Given the description of an element on the screen output the (x, y) to click on. 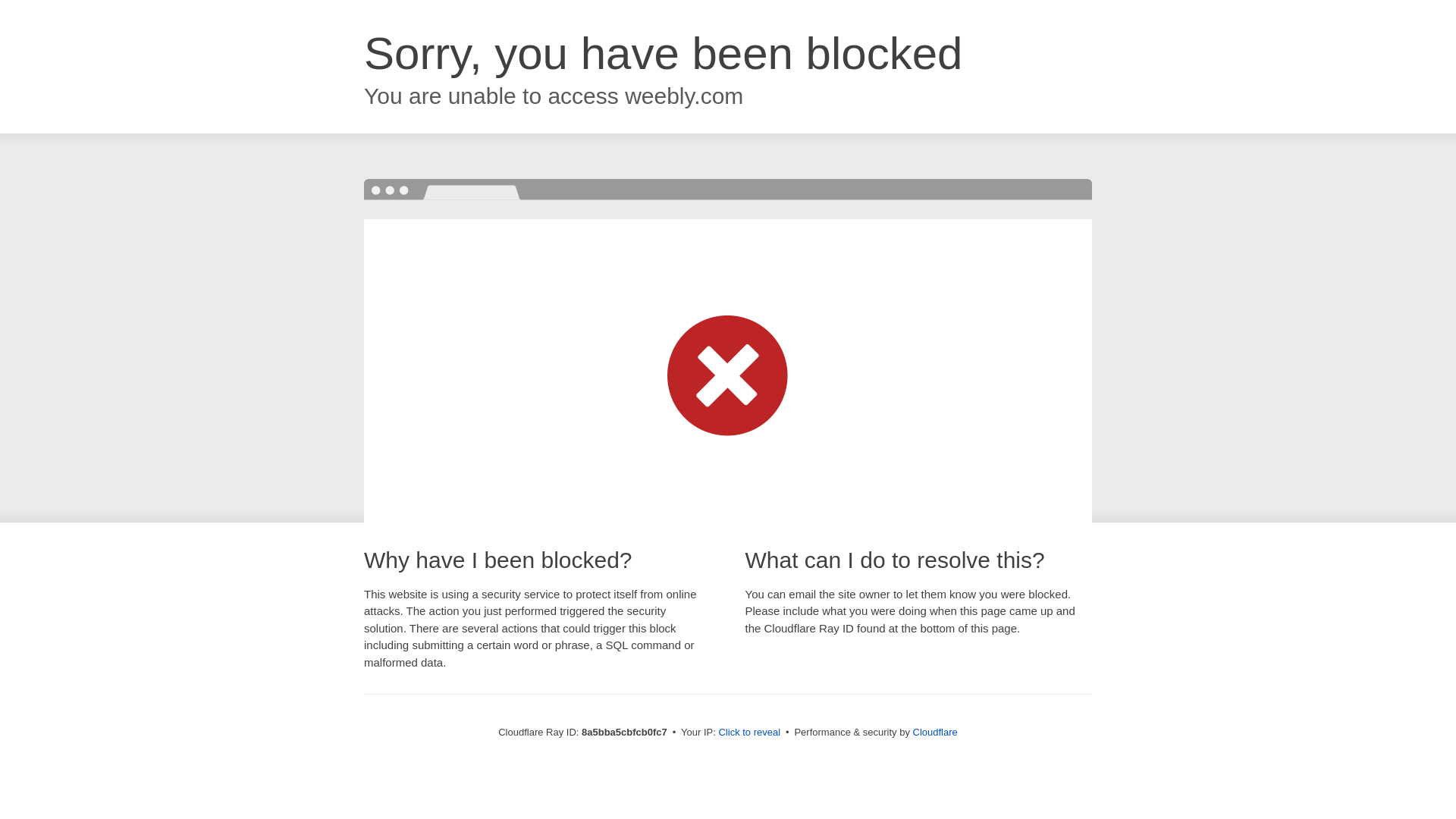
Cloudflare (935, 731)
Click to reveal (748, 732)
